Given the description of an element on the screen output the (x, y) to click on. 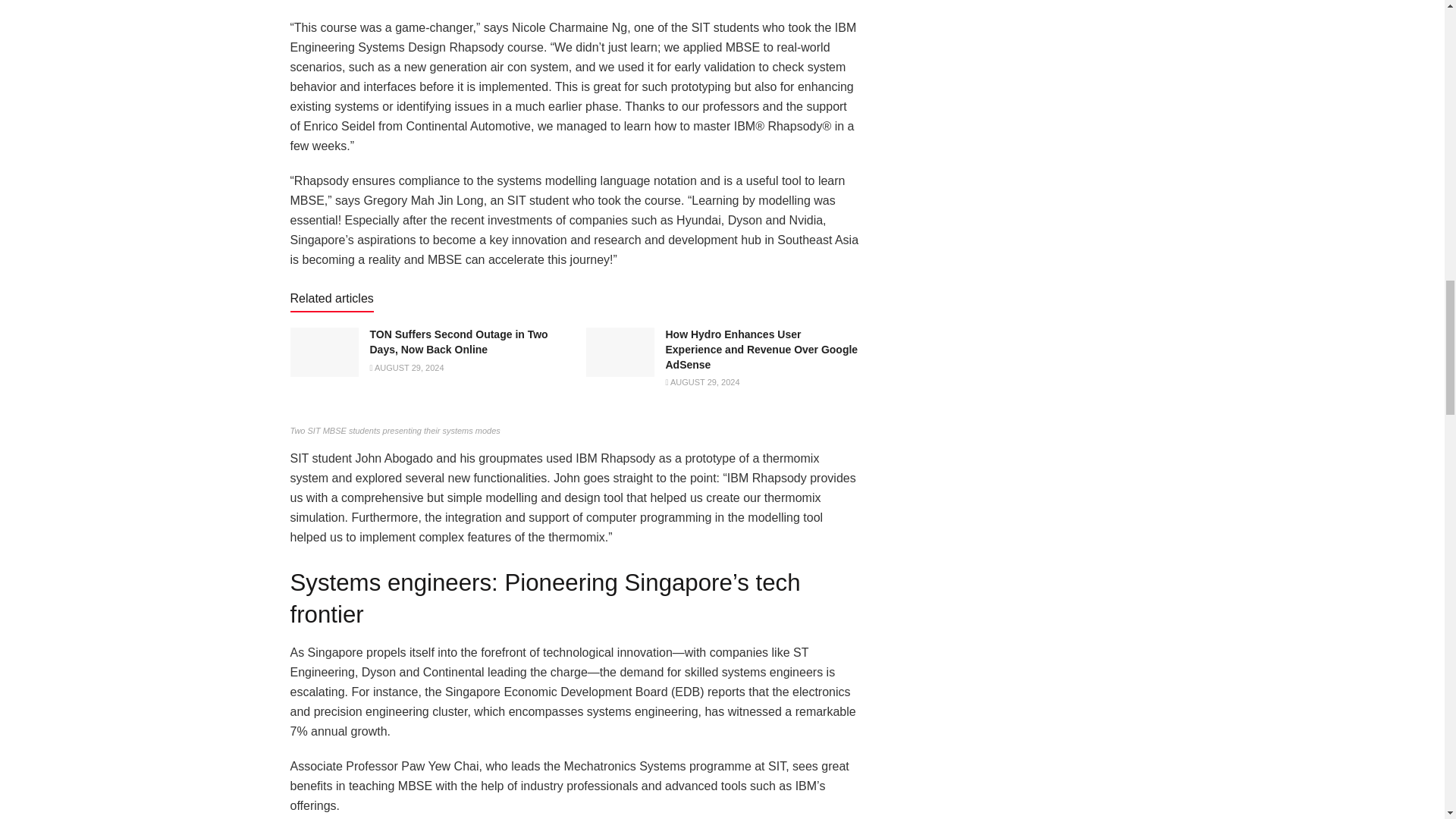
AUGUST 29, 2024 (406, 367)
AUGUST 29, 2024 (702, 381)
TON Suffers Second Outage in Two Days, Now Back Online (458, 341)
